Given the description of an element on the screen output the (x, y) to click on. 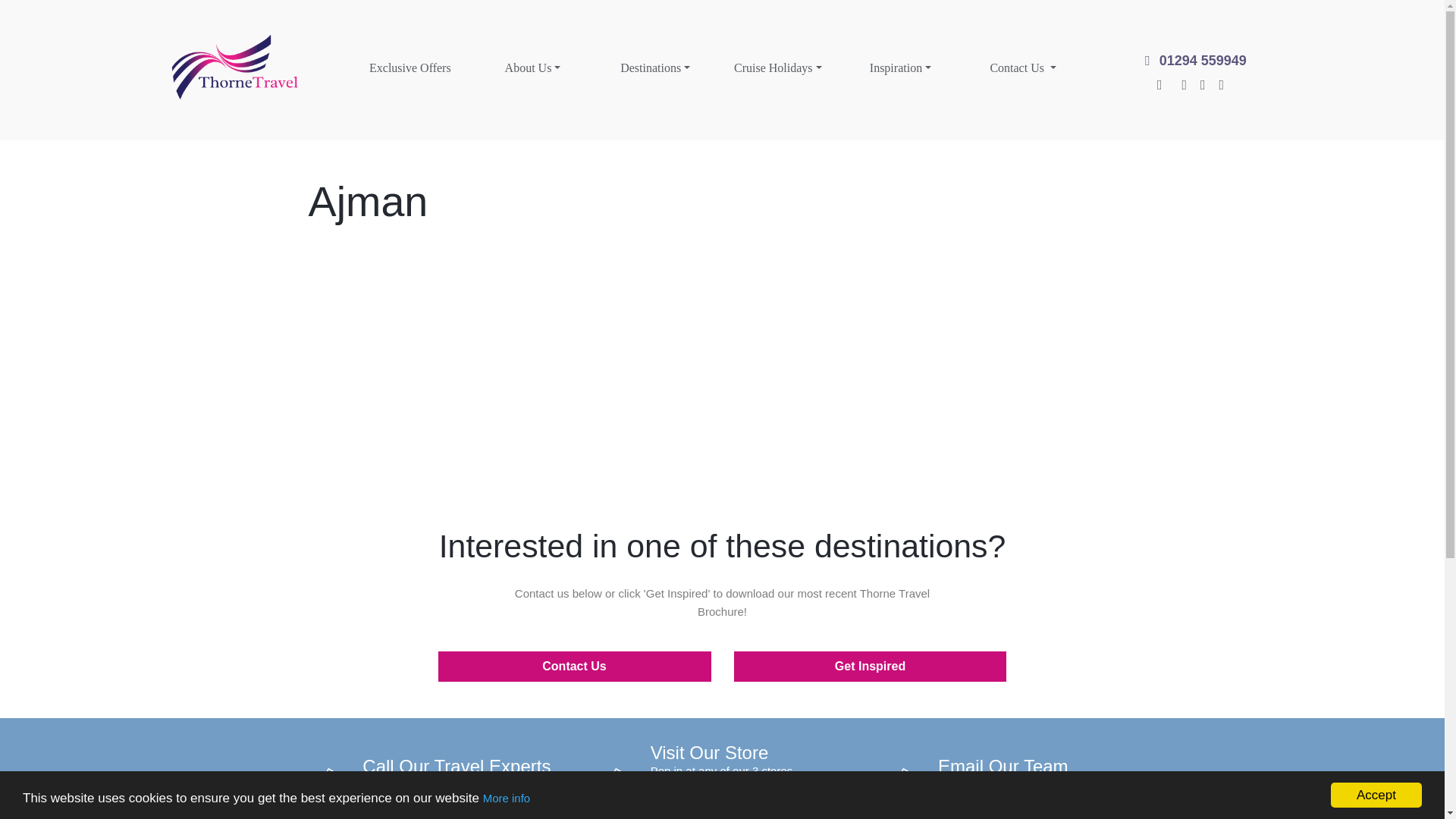
Destinations (655, 69)
Exclusive Offers (410, 69)
Contact Us (1022, 69)
About Us (532, 69)
Cruise Holidays (778, 69)
Inspiration (901, 69)
